Given the description of an element on the screen output the (x, y) to click on. 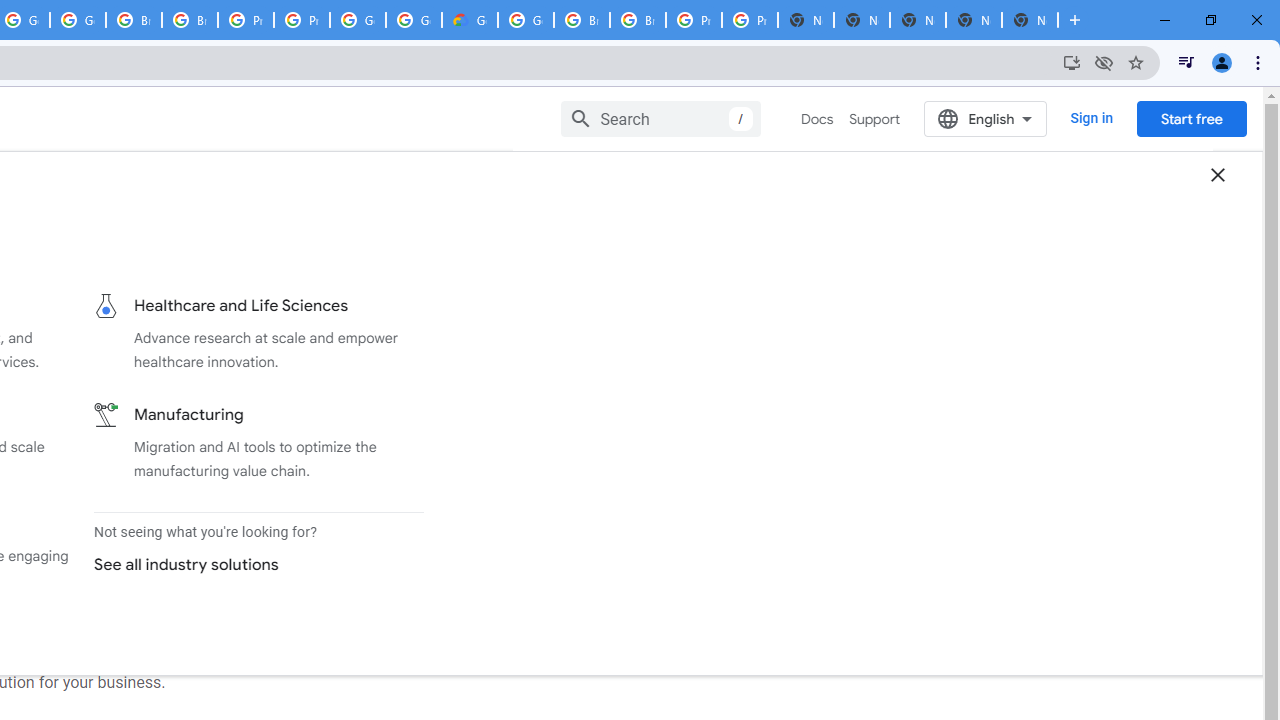
Google Cloud Platform (358, 20)
Install Google Cloud (1071, 62)
Google Cloud Estimate Summary (469, 20)
Browse Chrome as a guest - Computer - Google Chrome Help (582, 20)
New Tab (1030, 20)
